Given the description of an element on the screen output the (x, y) to click on. 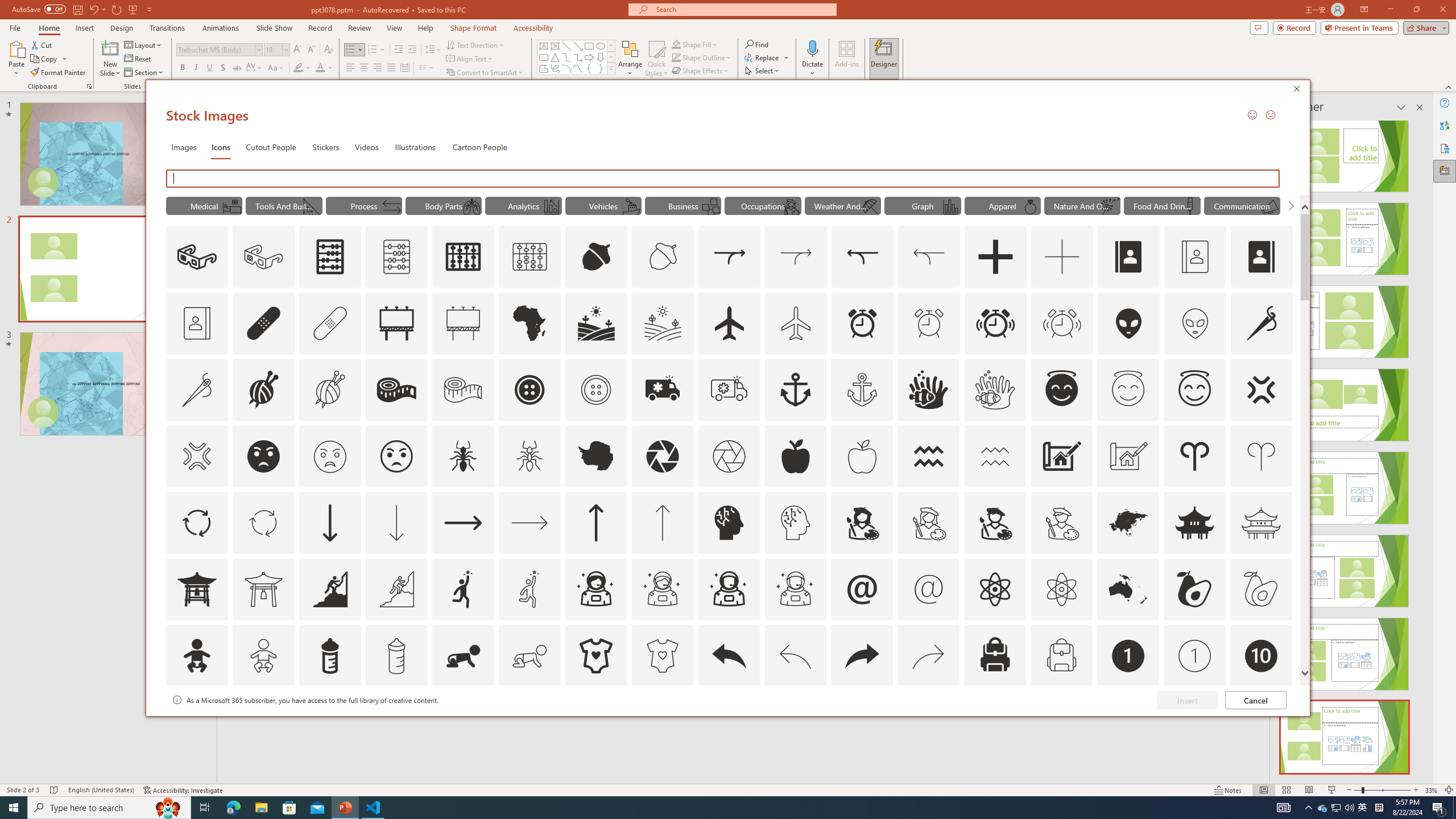
AutomationID: Icons_At (861, 588)
AutomationID: Icons_ArtistFemale_M (928, 522)
AutomationID: Icons_ArrowDown (329, 522)
